Given the description of an element on the screen output the (x, y) to click on. 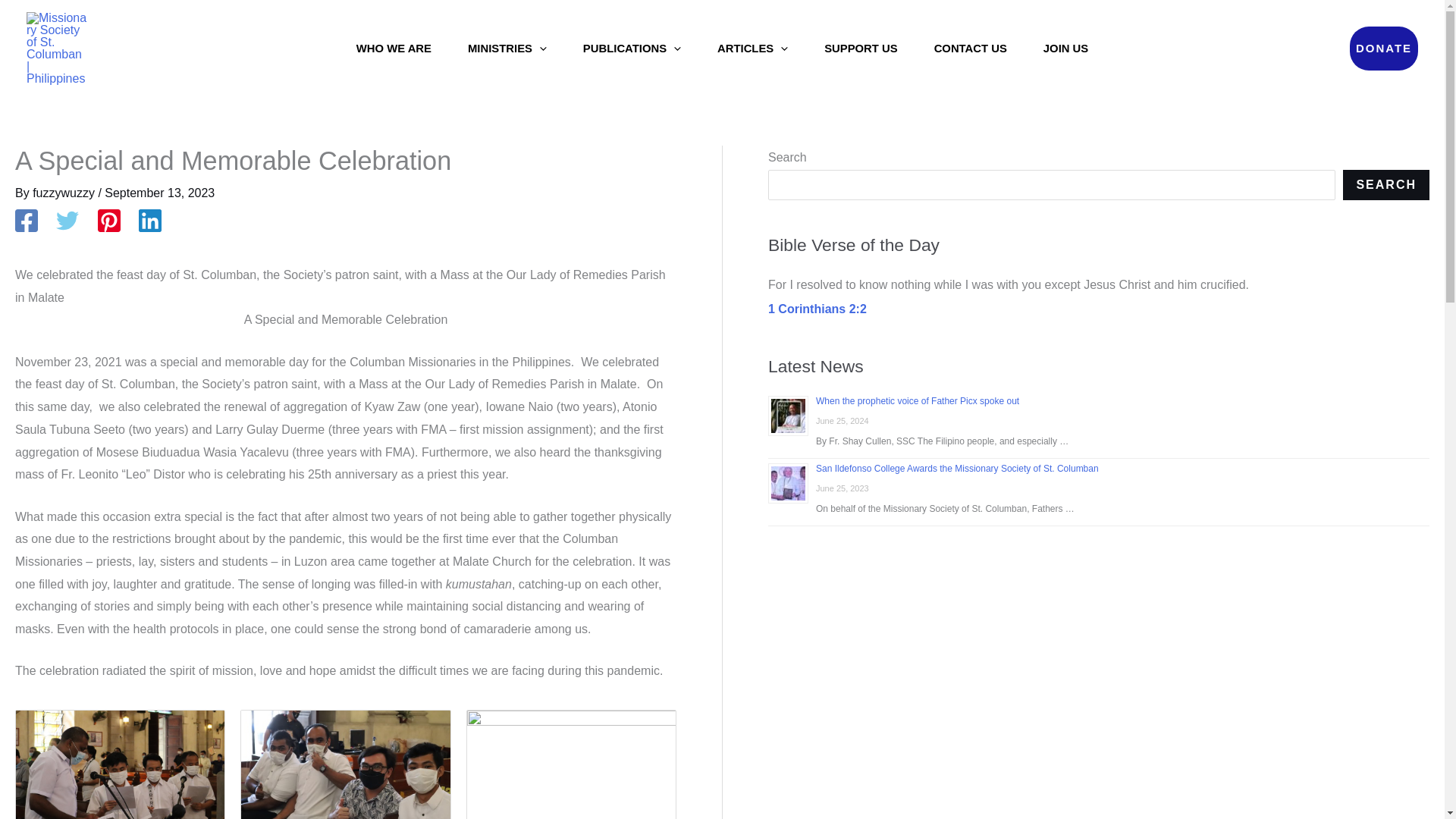
MINISTRIES (506, 47)
View all posts by fuzzywuzzy (64, 192)
SUPPORT US (860, 47)
JOIN US (1065, 47)
WHO WE ARE (393, 47)
PUBLICATIONS (631, 47)
DONATE (1383, 48)
CONTACT US (970, 47)
